Given the description of an element on the screen output the (x, y) to click on. 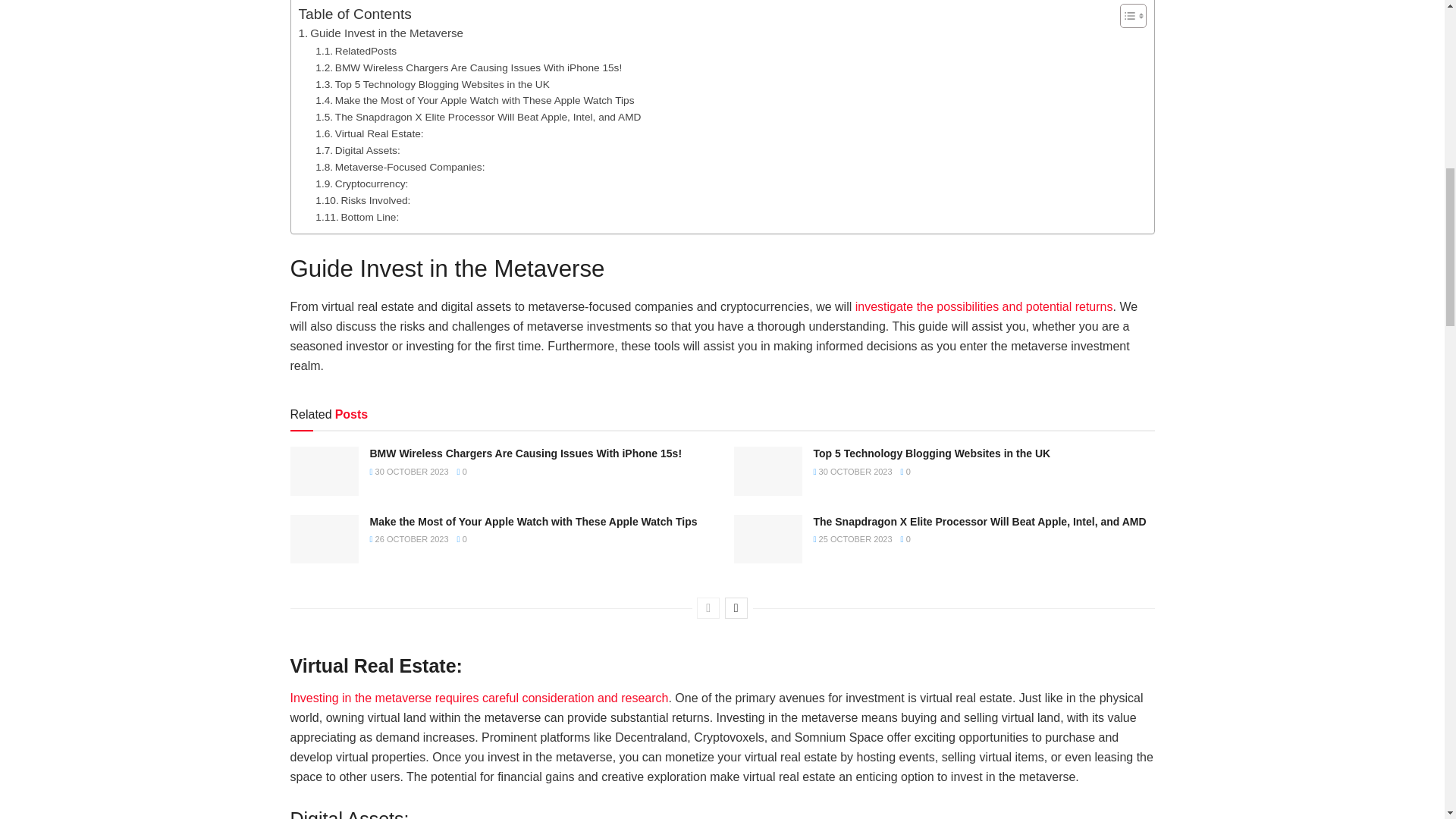
Next (736, 608)
Virtual Real Estate: (369, 134)
Cryptocurrency: (361, 184)
Risks Involved: (362, 200)
BMW Wireless Chargers Are Causing Issues With iPhone 15s! (468, 67)
Bottom Line: (356, 217)
Digital Assets: (356, 150)
Previous (708, 608)
Top 5 Technology Blogging Websites in the UK (432, 84)
Guide Invest in the Metaverse (380, 33)
Metaverse-Focused Companies: (399, 167)
RelatedPosts (355, 51)
